Given the description of an element on the screen output the (x, y) to click on. 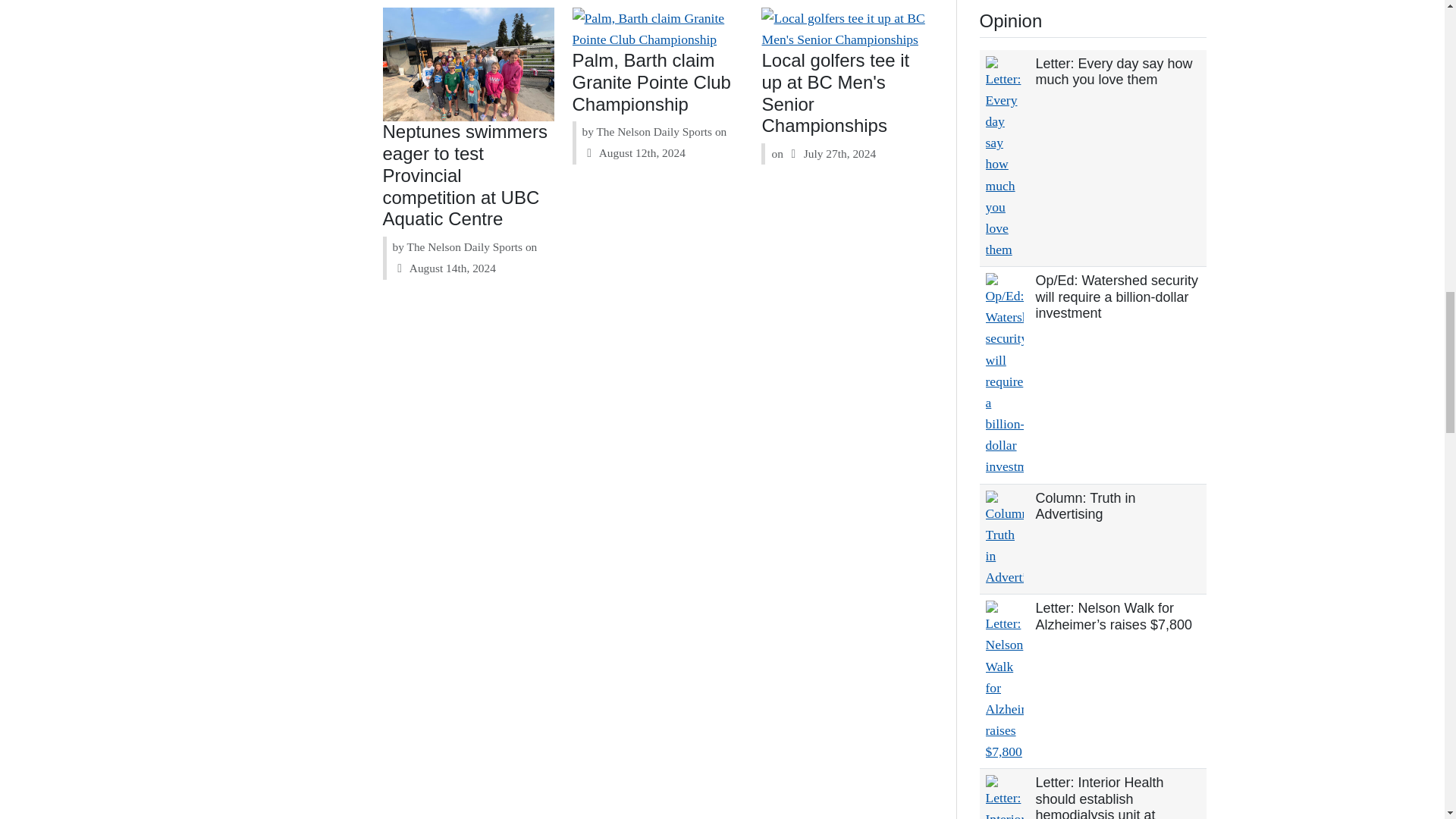
Letter: Every day say how much you love them (1113, 71)
Palm, Barth claim Granite Pointe Club Championship (651, 81)
Local golfers tee it up at BC Men's Senior Championships (834, 92)
